Given the description of an element on the screen output the (x, y) to click on. 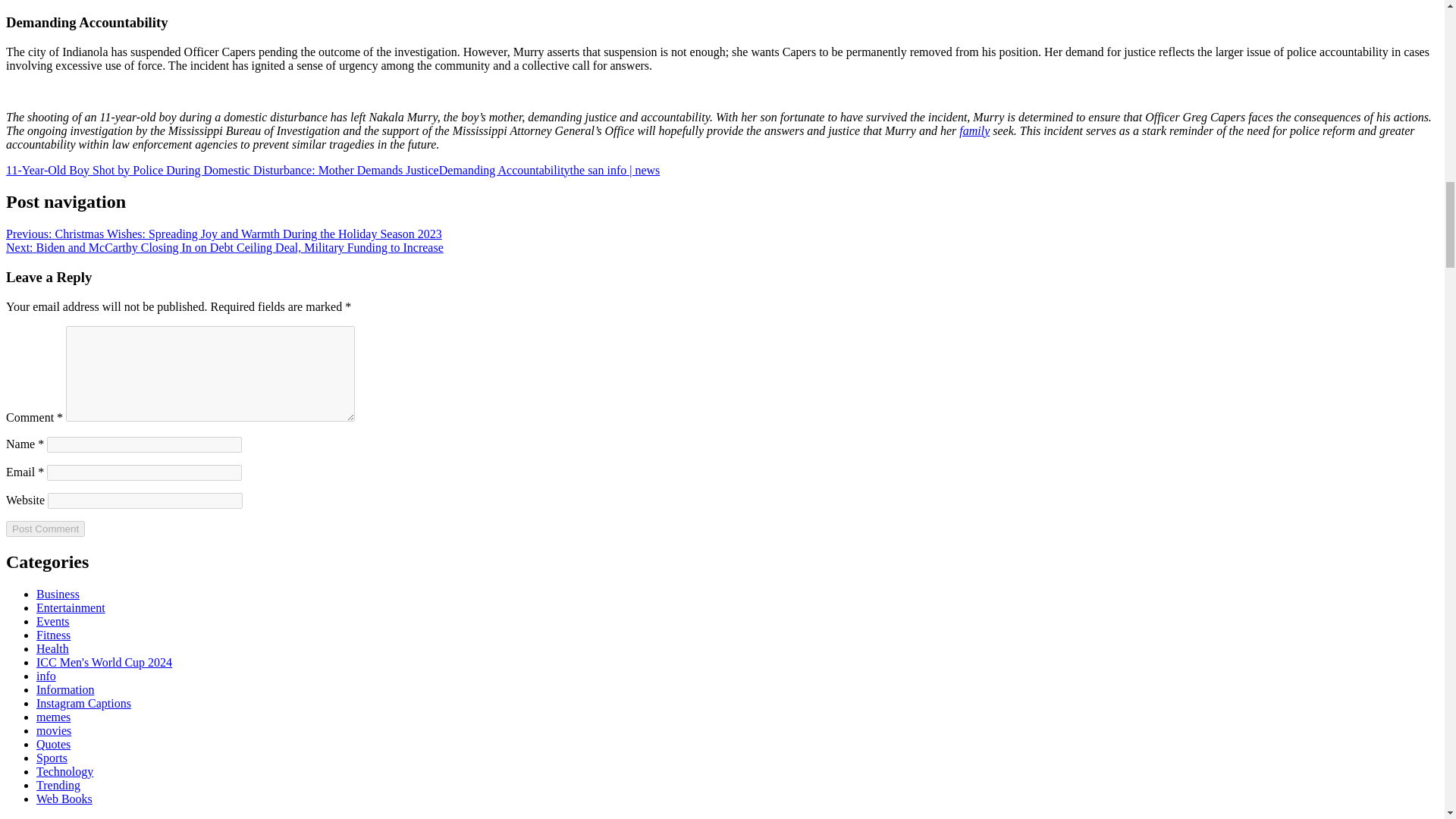
family (974, 130)
Post Comment (44, 528)
